Given the description of an element on the screen output the (x, y) to click on. 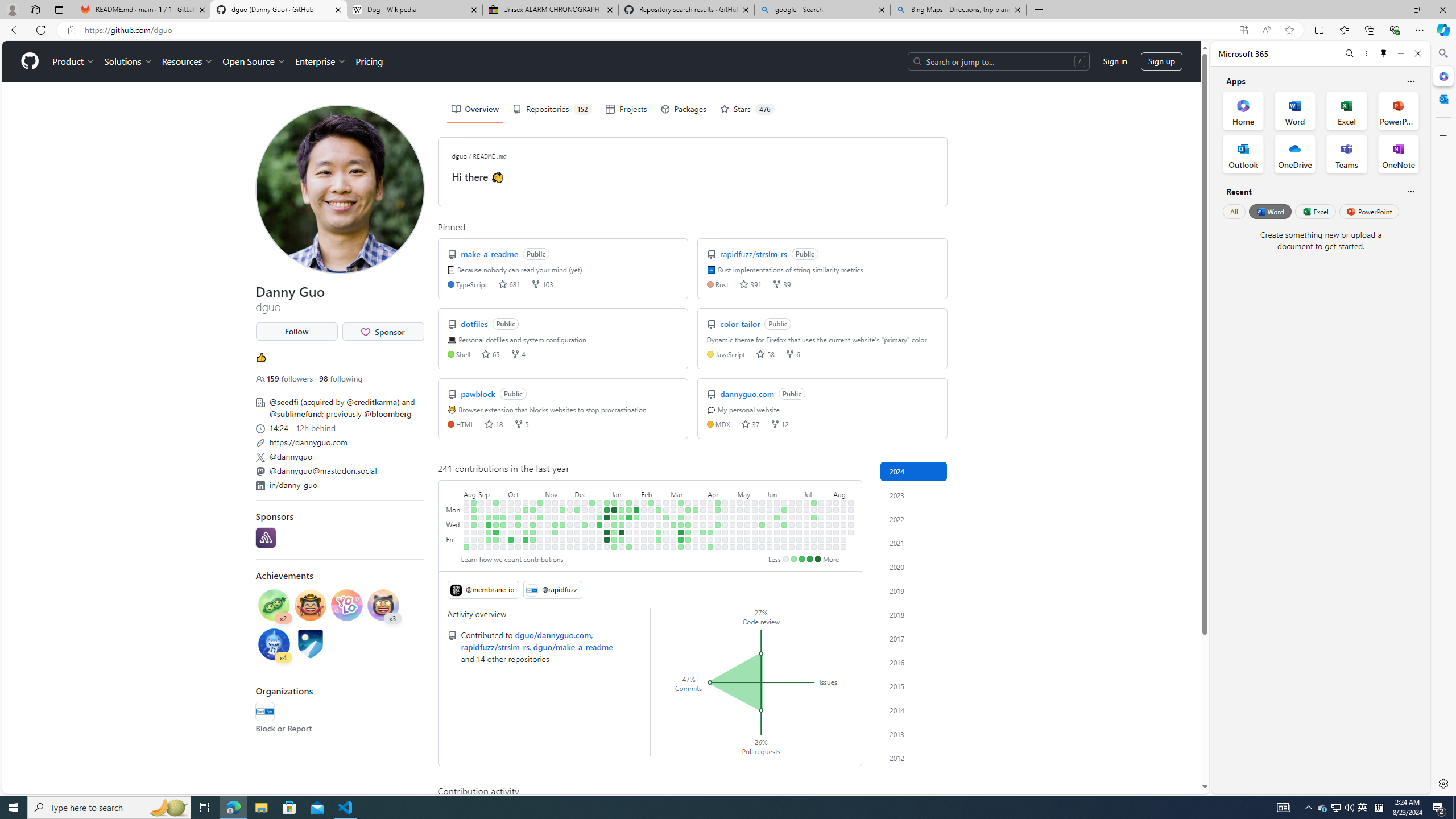
No contributions on June 9th. (777, 502)
No contributions on March 5th. (674, 517)
2 contributions on February 27th. (665, 517)
No contributions on August 6th. (836, 517)
No contributions on January 31st. (636, 524)
No contributions on November 18th. (555, 546)
No contributions on September 7th. (481, 531)
Word (1269, 210)
No contributions on February 15th. (651, 531)
3 contributions on March 22nd. (688, 539)
No contributions on September 11th. (489, 509)
No contributions on September 9th. (481, 546)
View dguo's full-sized avatar (338, 188)
No contributions on March 1st. (665, 539)
